Given the description of an element on the screen output the (x, y) to click on. 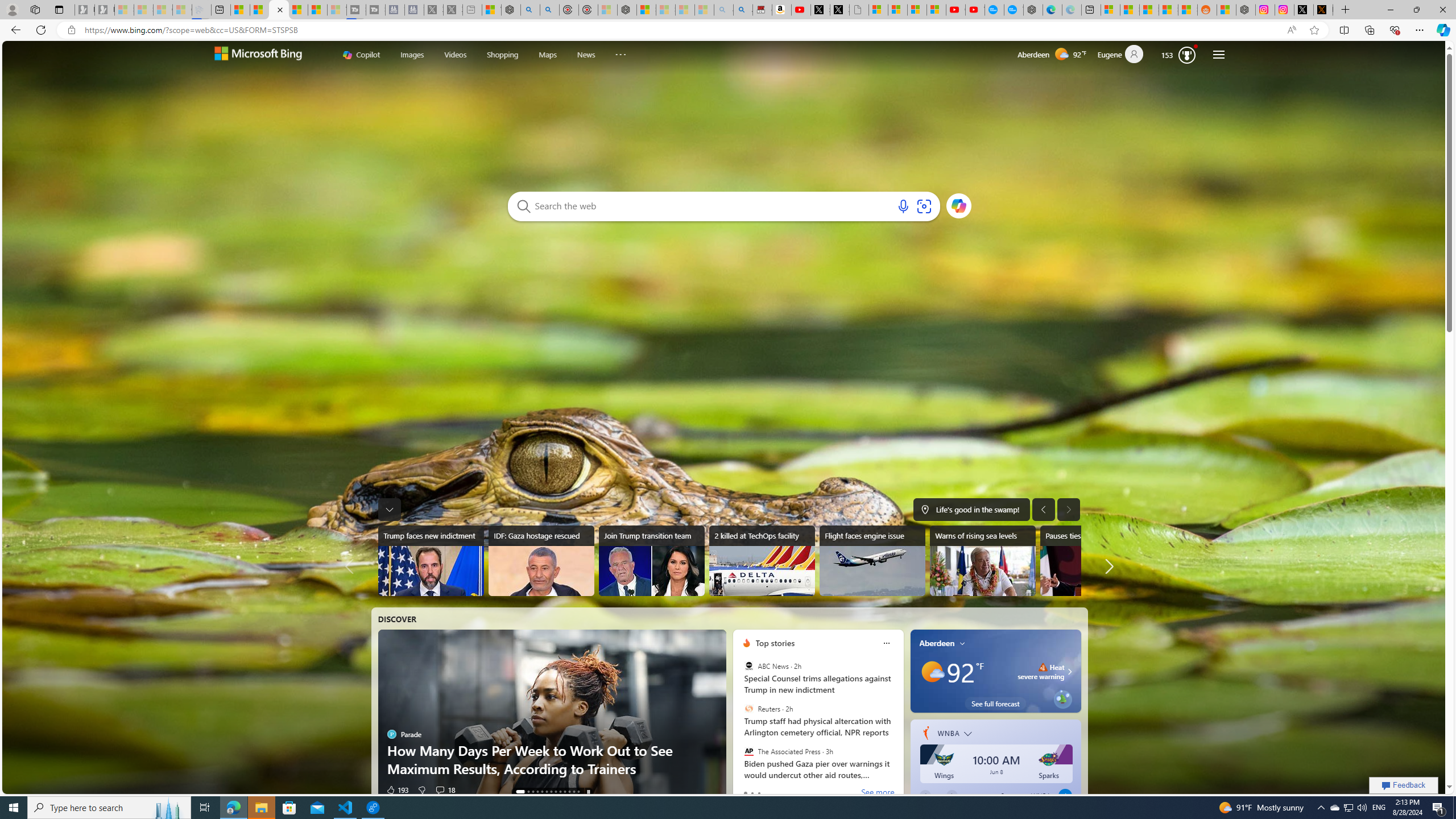
AutomationID: tab-2 (532, 791)
Shopping (502, 53)
amazon - Search - Sleeping (723, 9)
Class: eplant-bubble (1061, 699)
Shanghai, China hourly forecast | Microsoft Weather (1148, 9)
My location (962, 643)
previous (738, 715)
X - Sleeping (452, 9)
See more (876, 793)
Wings 10:00 AM Jun 8 Sparks (996, 763)
2 killed at TechOps facility (762, 560)
Heat - Severe (1043, 666)
App bar (728, 29)
